Given the description of an element on the screen output the (x, y) to click on. 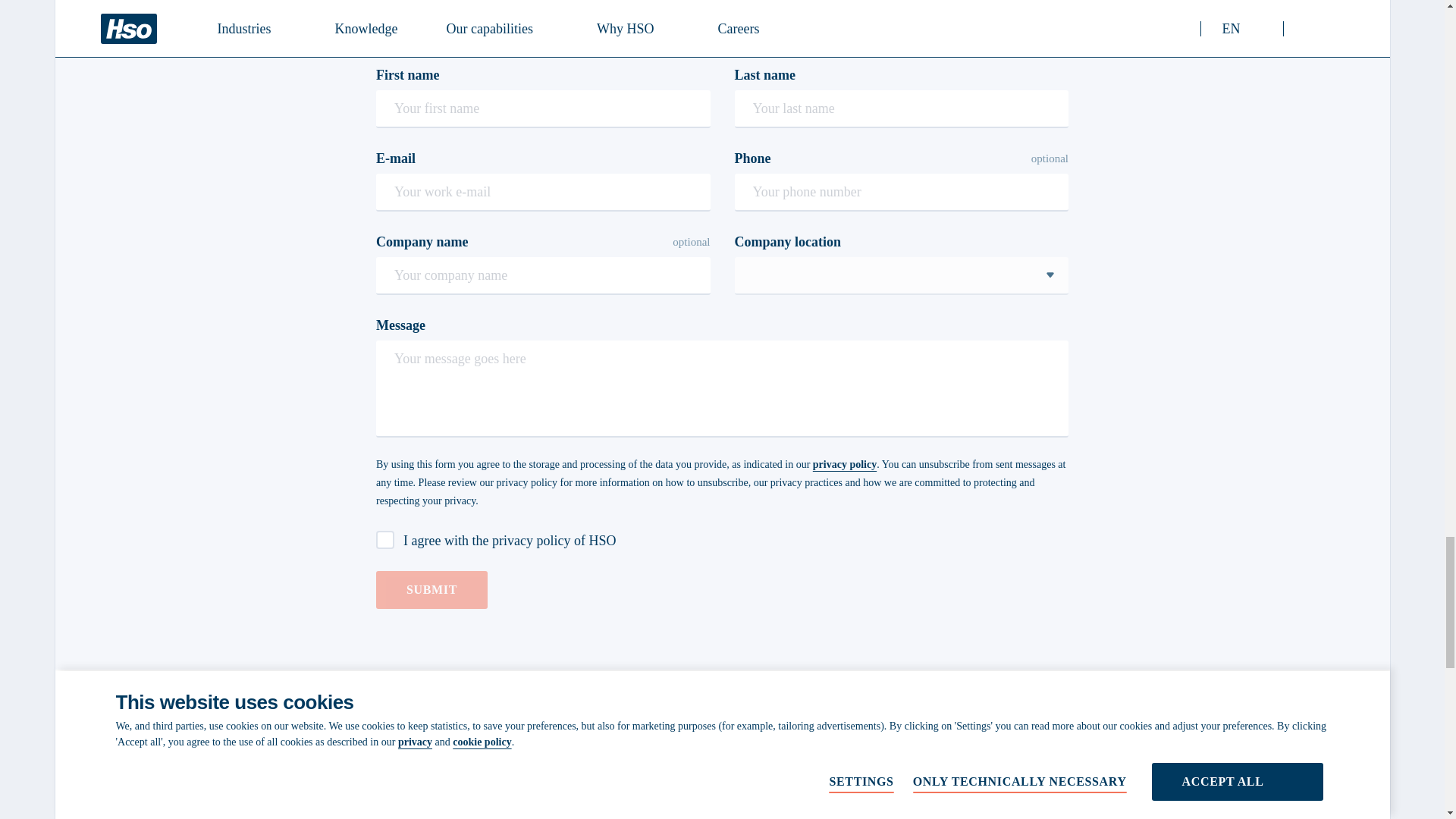
Submit (431, 589)
true (384, 539)
